Given the description of an element on the screen output the (x, y) to click on. 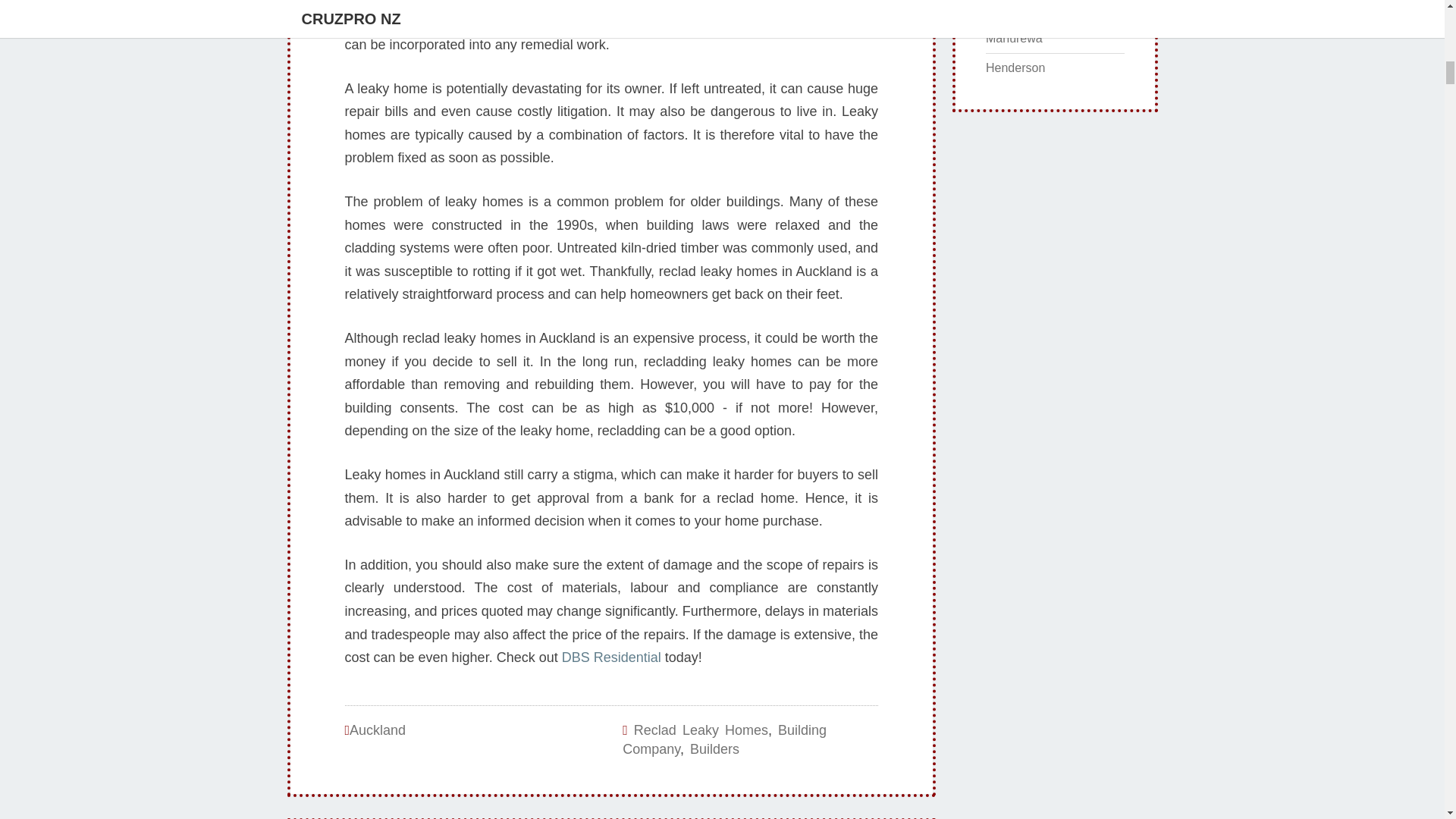
Reclad Leaky Homes (700, 729)
Builders (714, 749)
DBS Residential (611, 657)
Building Company (725, 739)
Auckland (377, 729)
